Given the description of an element on the screen output the (x, y) to click on. 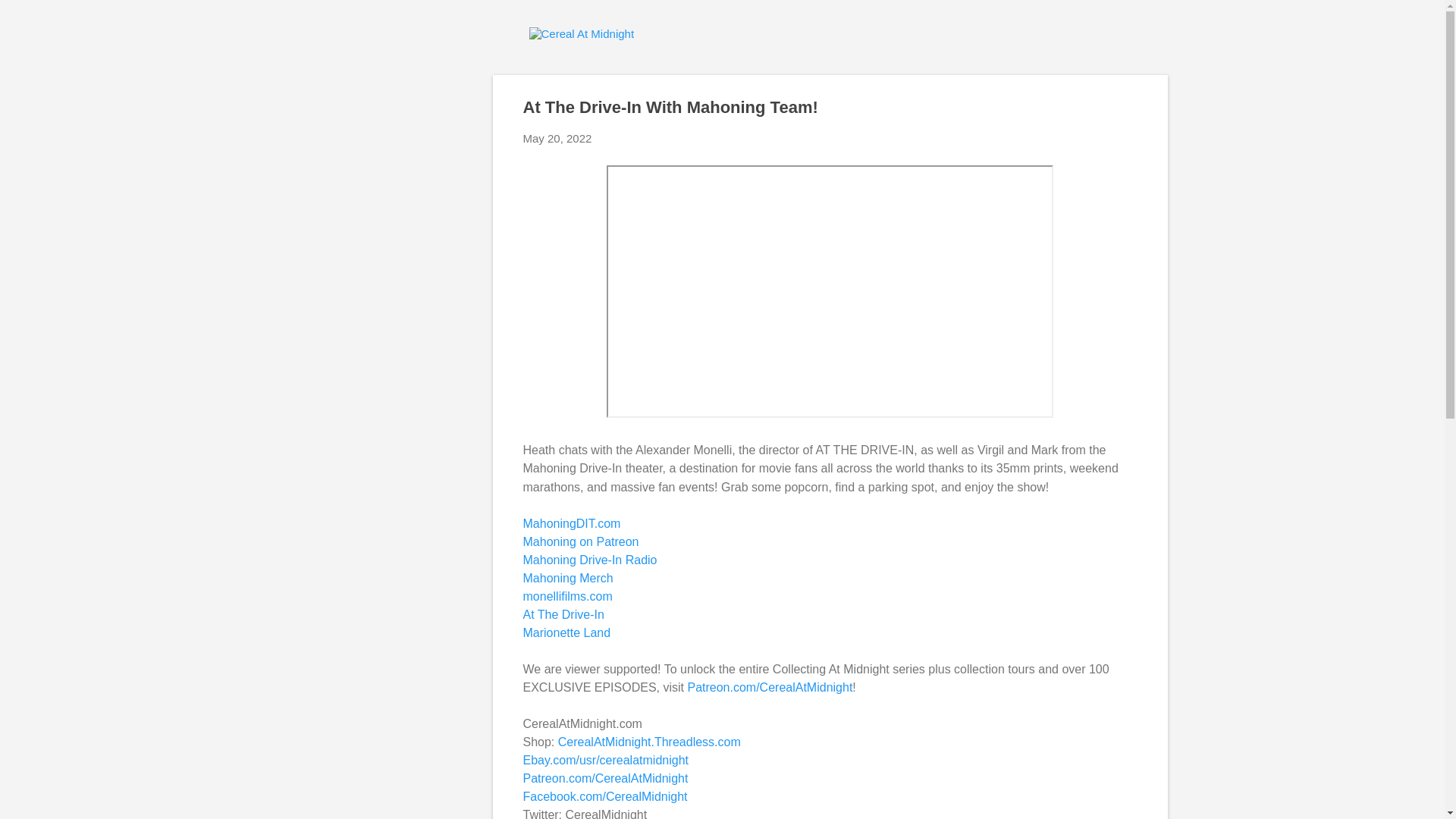
monellifilms.com (567, 595)
At The Drive-In (563, 614)
permanent link (557, 137)
Search (29, 18)
Mahoning Drive-In Radio (590, 559)
Mahoning Merch (567, 577)
MahoningDIT.com (571, 522)
Marionette Land (566, 632)
CerealAtMidnight.Threadless.com (649, 741)
May 20, 2022 (557, 137)
